Given the description of an element on the screen output the (x, y) to click on. 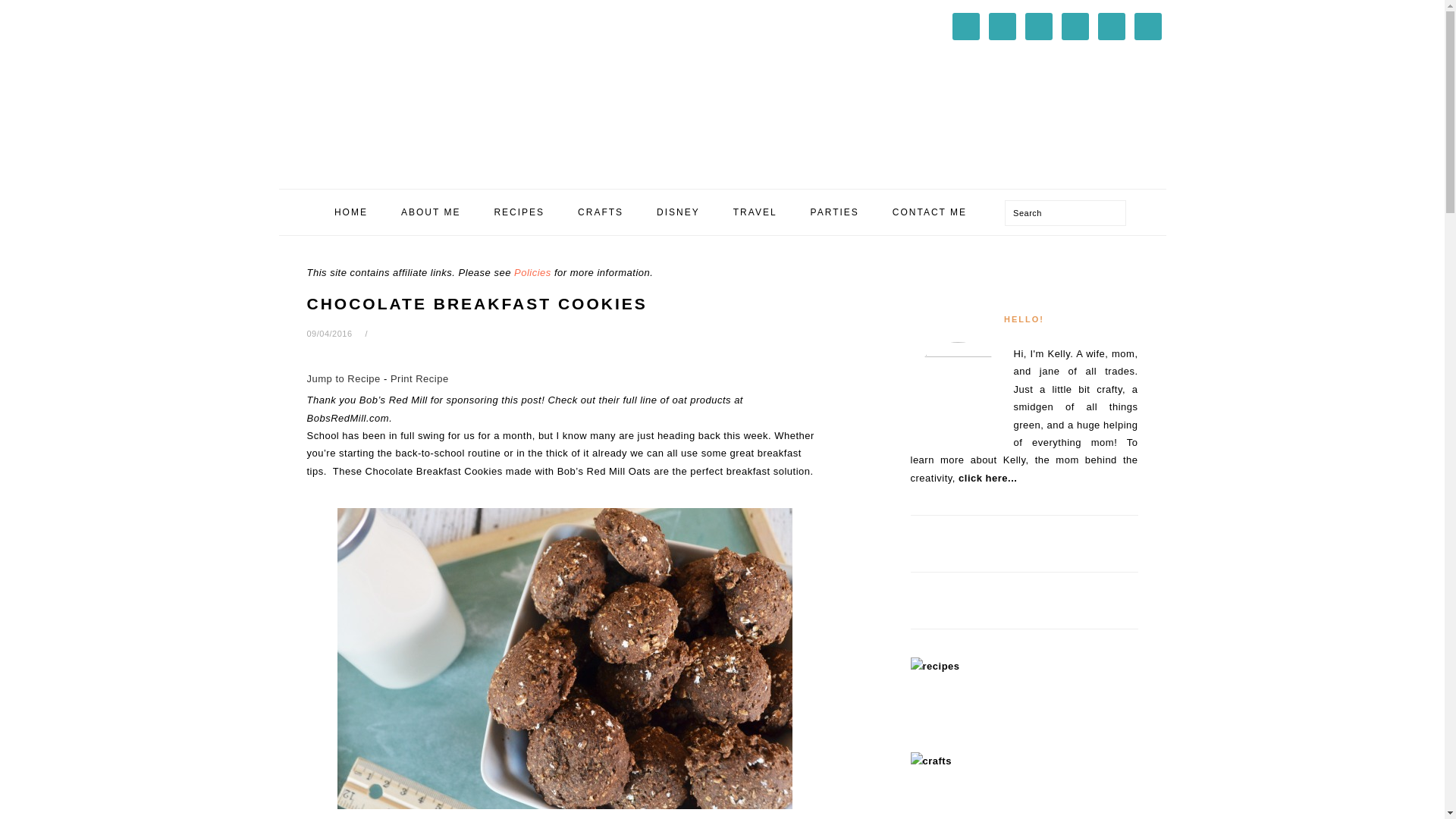
Jump to Recipe (342, 378)
TRAVEL (755, 212)
Policies (532, 272)
Print Recipe (419, 378)
ABOUT ME (430, 212)
CONTACT ME (929, 212)
PARTIES (834, 212)
ECLECTIC MOMSENSE (400, 89)
